Given the description of an element on the screen output the (x, y) to click on. 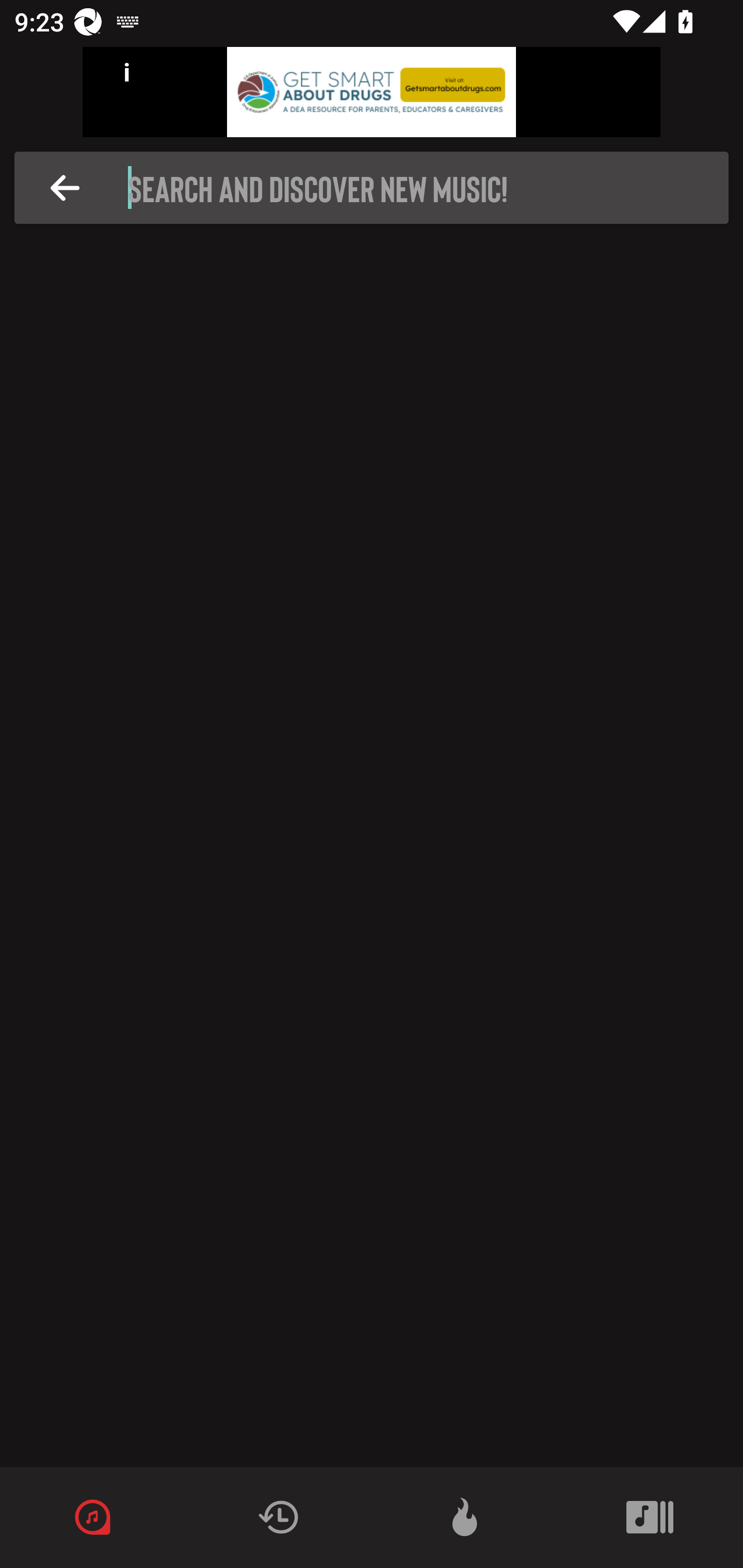
SEARCH AND DISCOVER NEW MUSIC! (377, 188)
Description (64, 188)
